Given the description of an element on the screen output the (x, y) to click on. 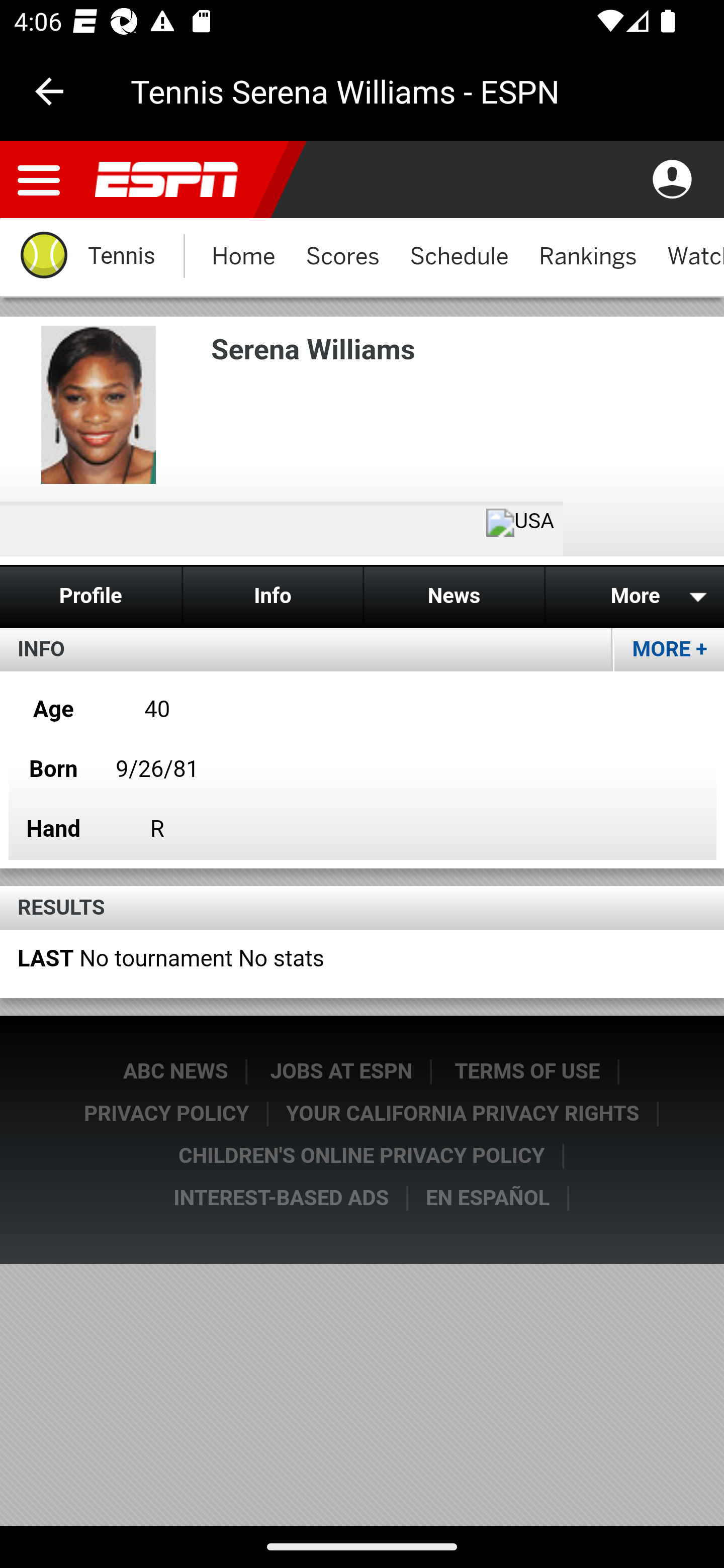
Navigate up (49, 91)
Menu (39, 180)
ESPN ESPN ESPN (173, 180)
signIn ≠ ≠ (671, 180)
Tennis ESPN-icon-tennis Tennis (86, 256)
Home (243, 256)
Scores (341, 256)
Schedule (459, 256)
Rankings (587, 256)
Profile (91, 595)
Info (271, 595)
News (453, 595)
More (633, 595)
ABC NEWS (175, 1071)
JOBS AT ESPN (341, 1071)
TERMS OF USE (528, 1071)
PRIVACY POLICY (167, 1113)
YOUR CALIFORNIA PRIVACY RIGHTS (463, 1113)
CHILDREN'S ONLINE PRIVACY POLICY (362, 1156)
INTEREST-BASED ADS (281, 1198)
EN ESPAÑOL (488, 1198)
